Given the description of an element on the screen output the (x, y) to click on. 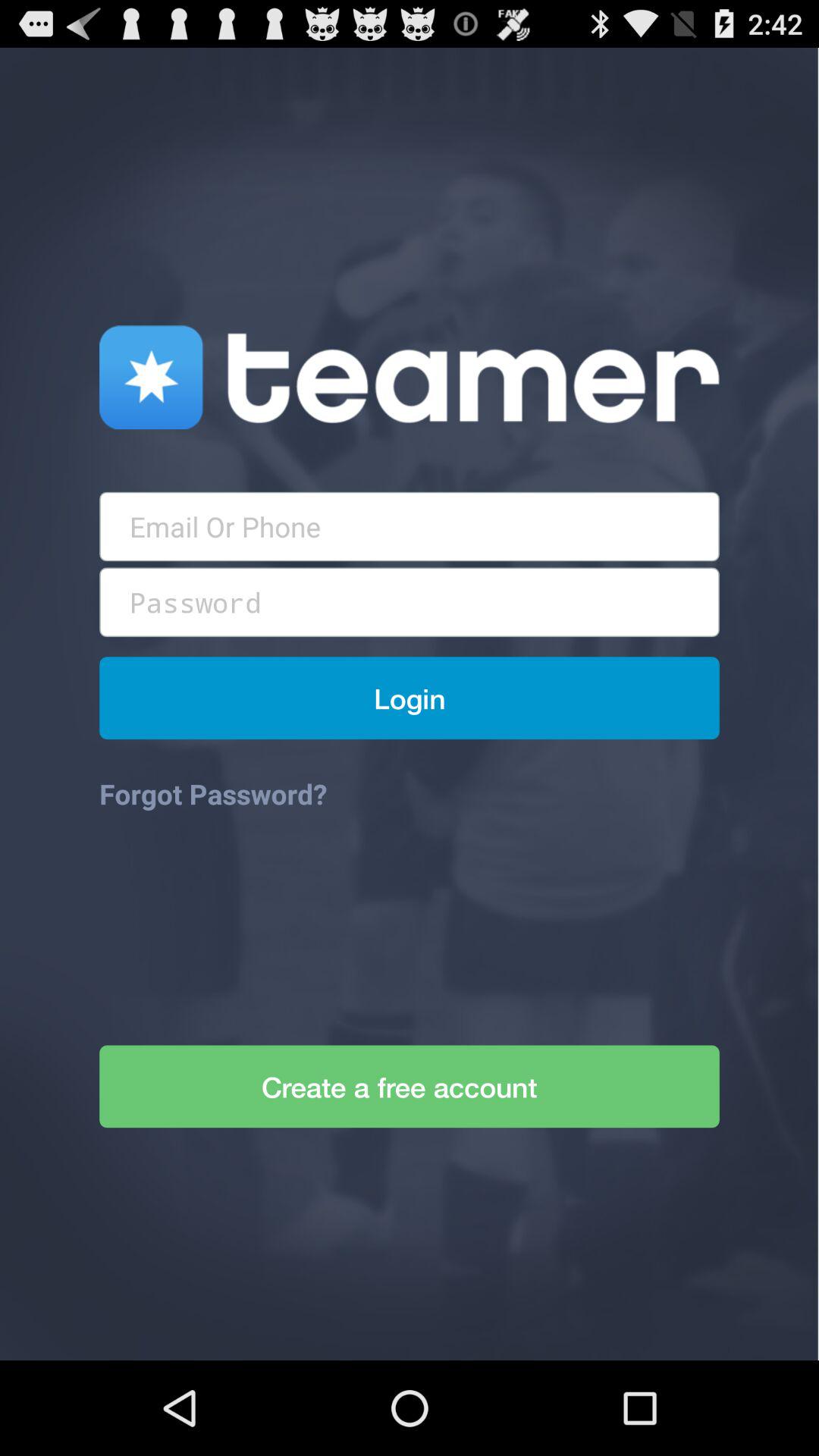
type username (409, 526)
